Given the description of an element on the screen output the (x, y) to click on. 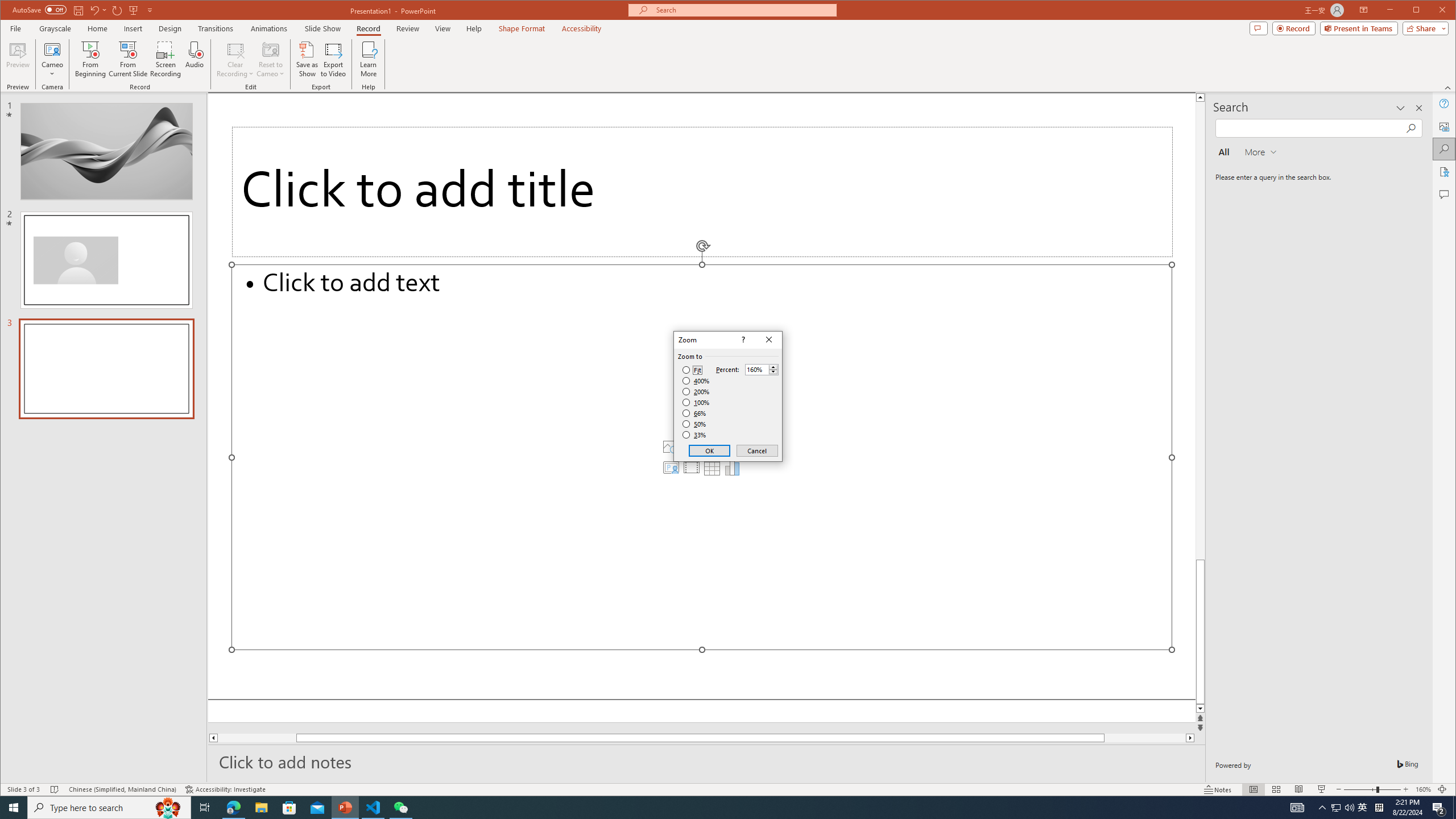
Clear Recording (234, 59)
Grayscale (55, 28)
50% (694, 424)
Less (772, 372)
